Given the description of an element on the screen output the (x, y) to click on. 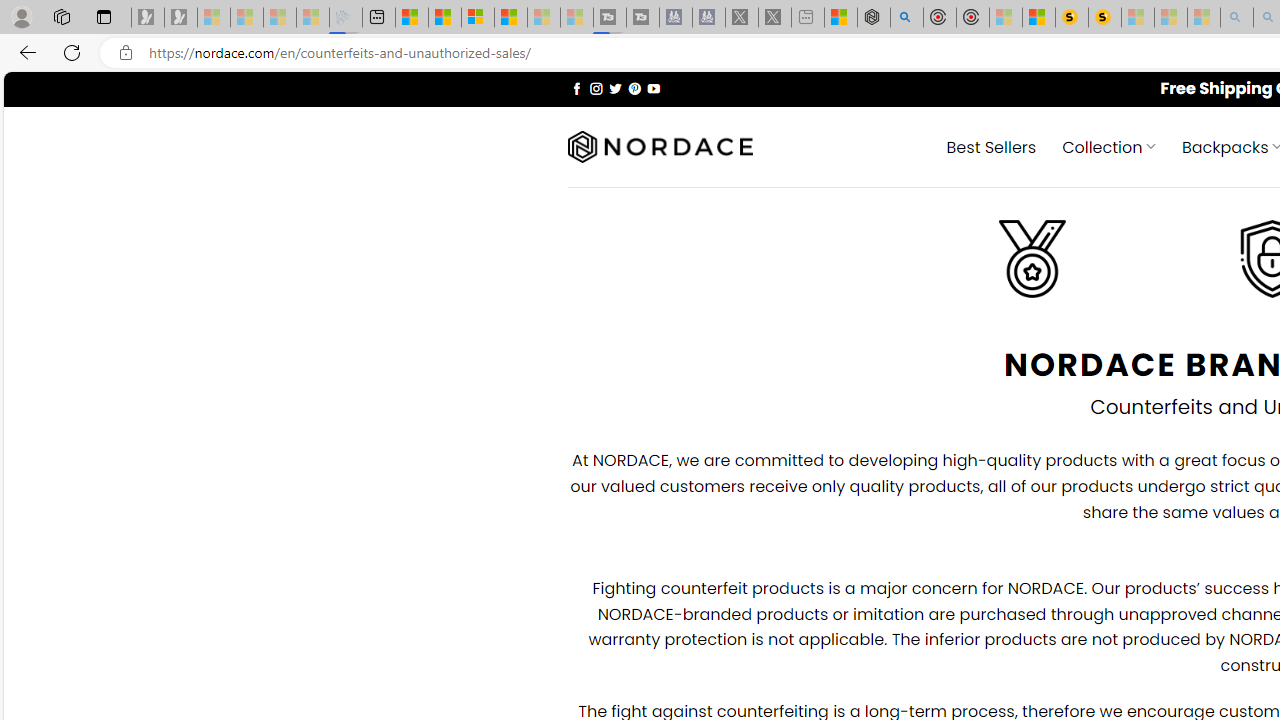
Follow on Instagram (596, 88)
New tab - Sleeping (808, 17)
Overview (478, 17)
X - Sleeping (775, 17)
Follow on Facebook (576, 88)
Streaming Coverage | T3 - Sleeping (609, 17)
